Given the description of an element on the screen output the (x, y) to click on. 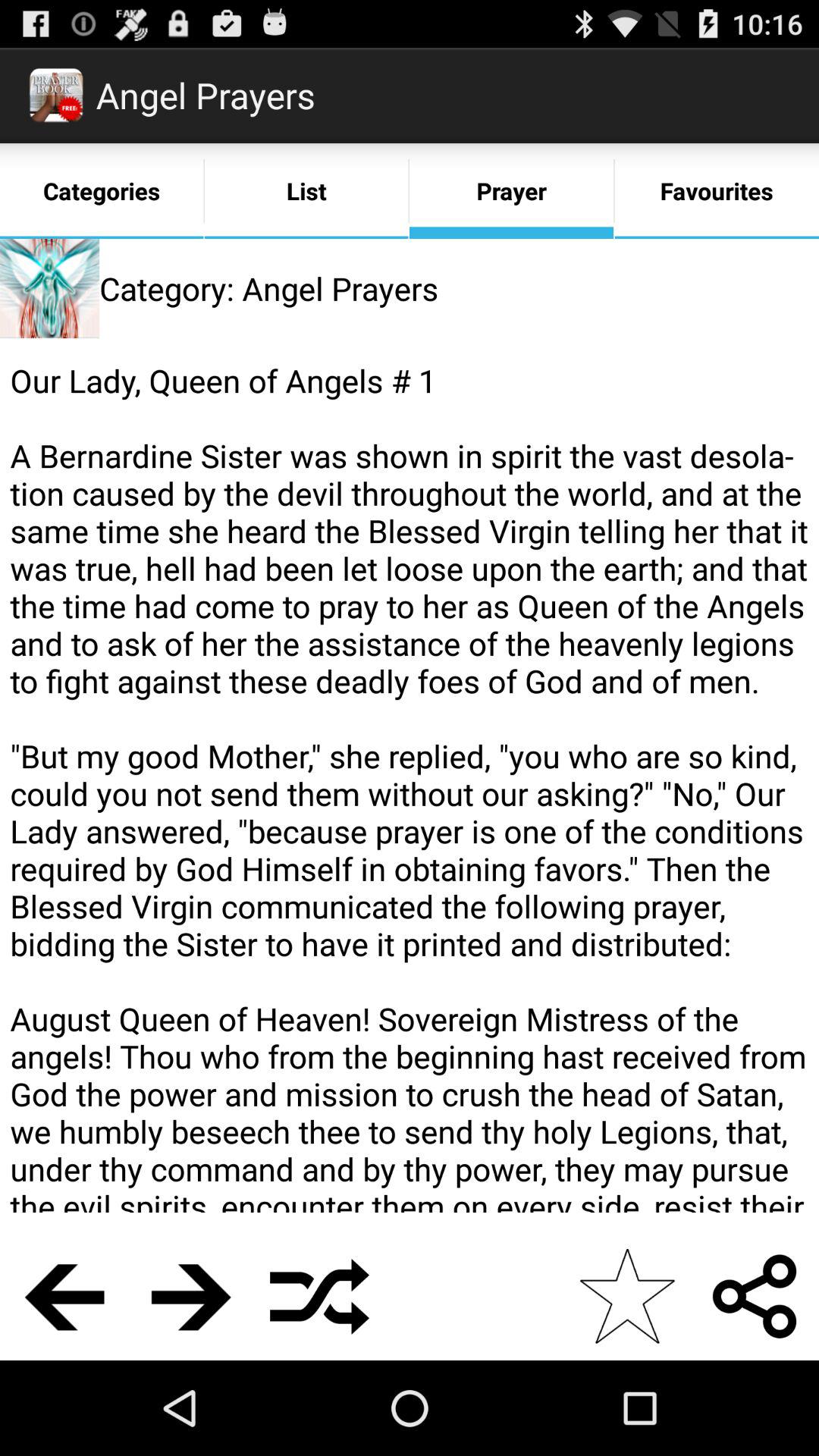
turn on the item below our lady queen (754, 1296)
